Given the description of an element on the screen output the (x, y) to click on. 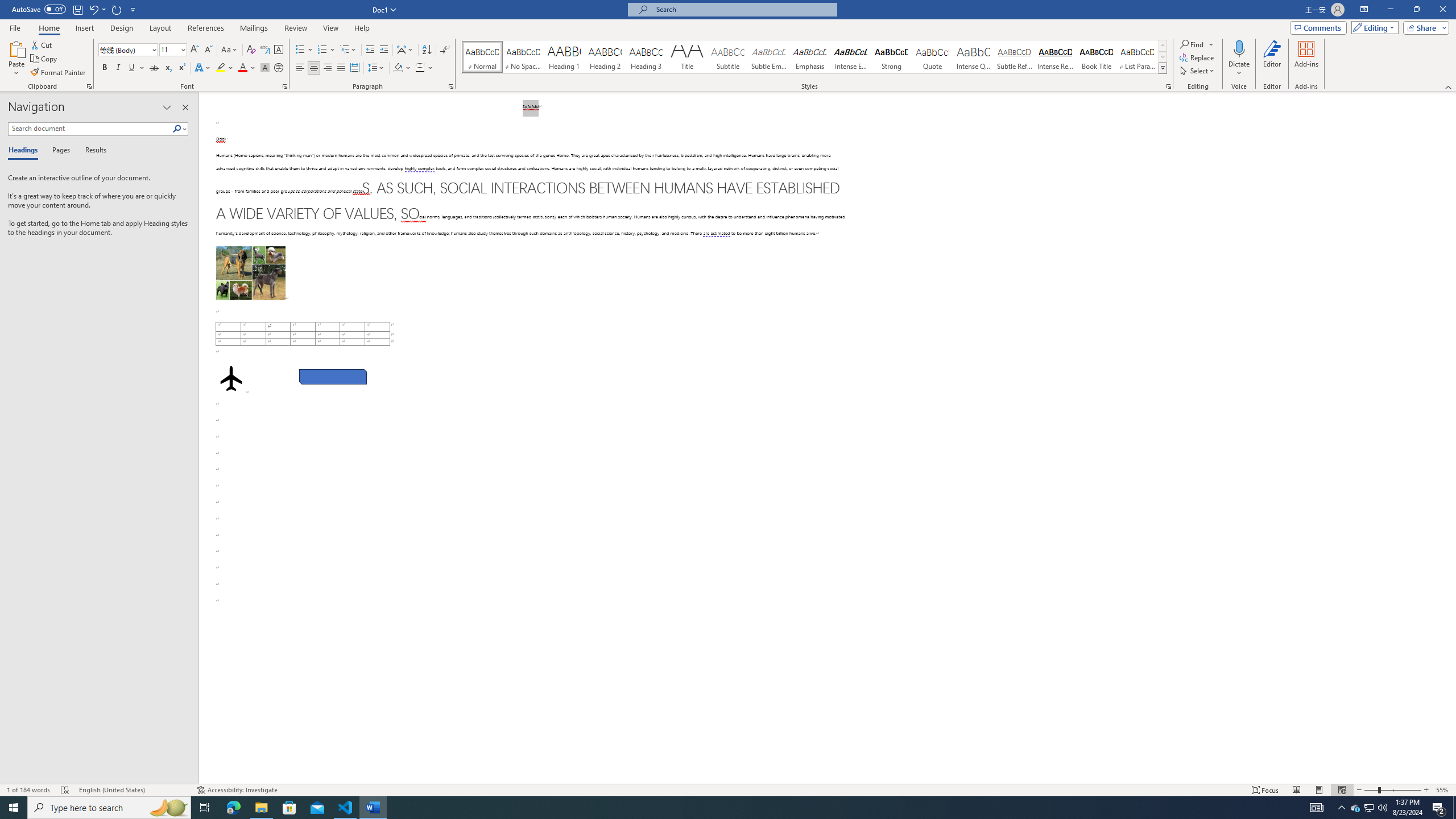
Undo Paragraph Alignment (96, 9)
